Given the description of an element on the screen output the (x, y) to click on. 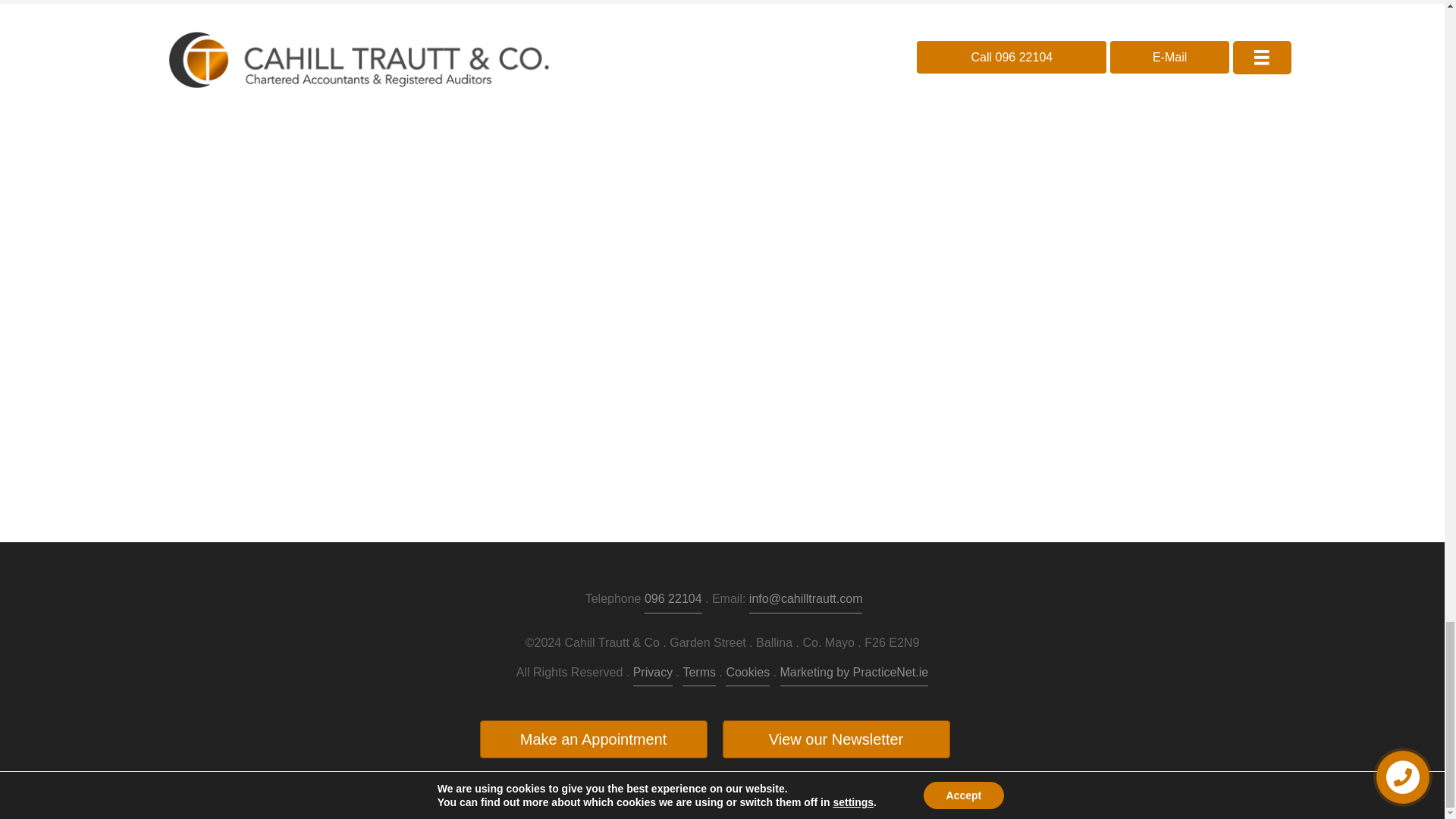
Make an Appointment (592, 739)
View our Newsletter (835, 739)
Cookies (747, 674)
096 22104 (673, 600)
Privacy (652, 674)
Terms (699, 674)
Marketing by PracticeNet.ie (854, 674)
